Given the description of an element on the screen output the (x, y) to click on. 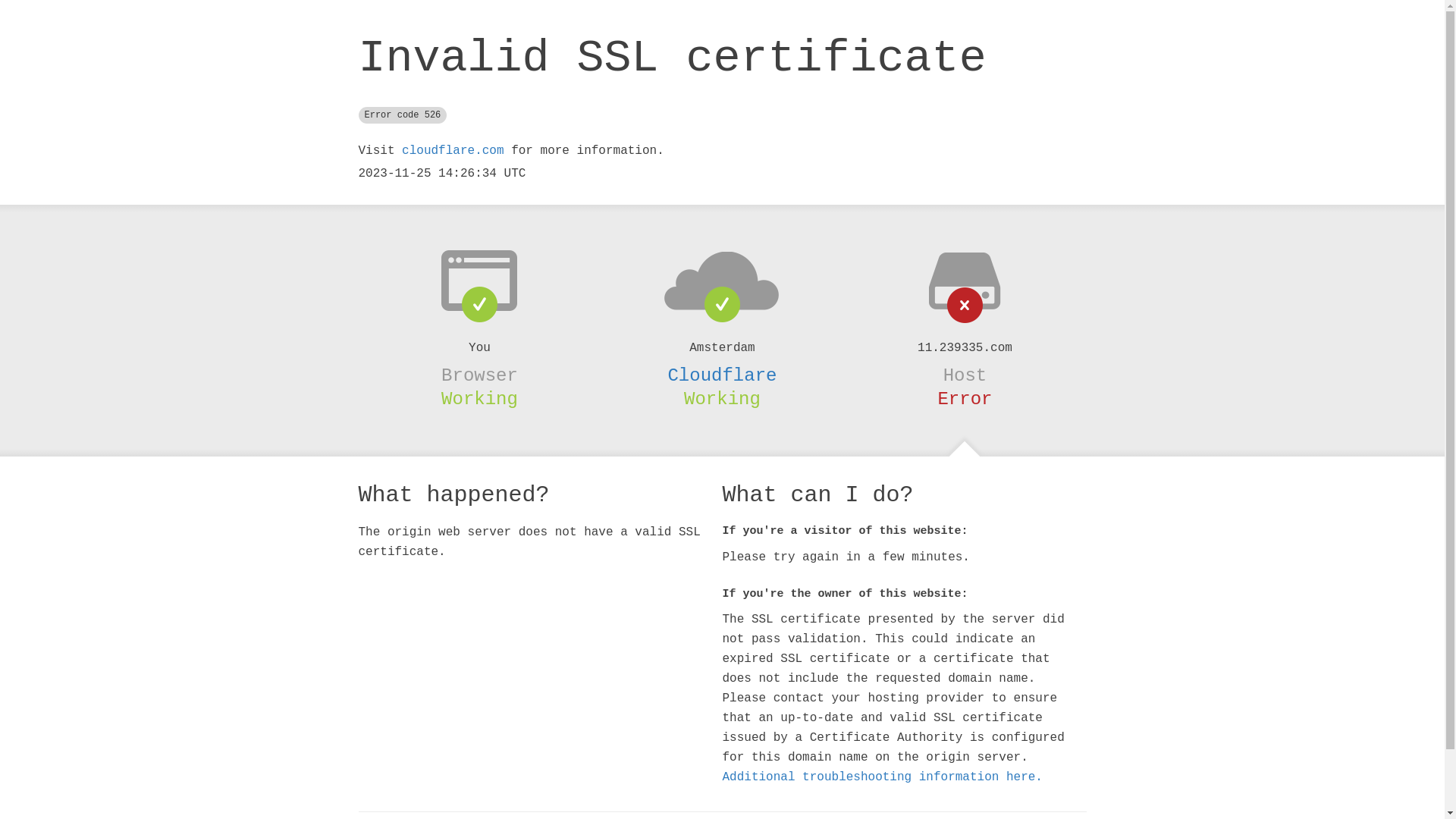
cloudflare.com Element type: text (452, 150)
Cloudflare Element type: text (721, 375)
Additional troubleshooting information here. Element type: text (881, 777)
